Given the description of an element on the screen output the (x, y) to click on. 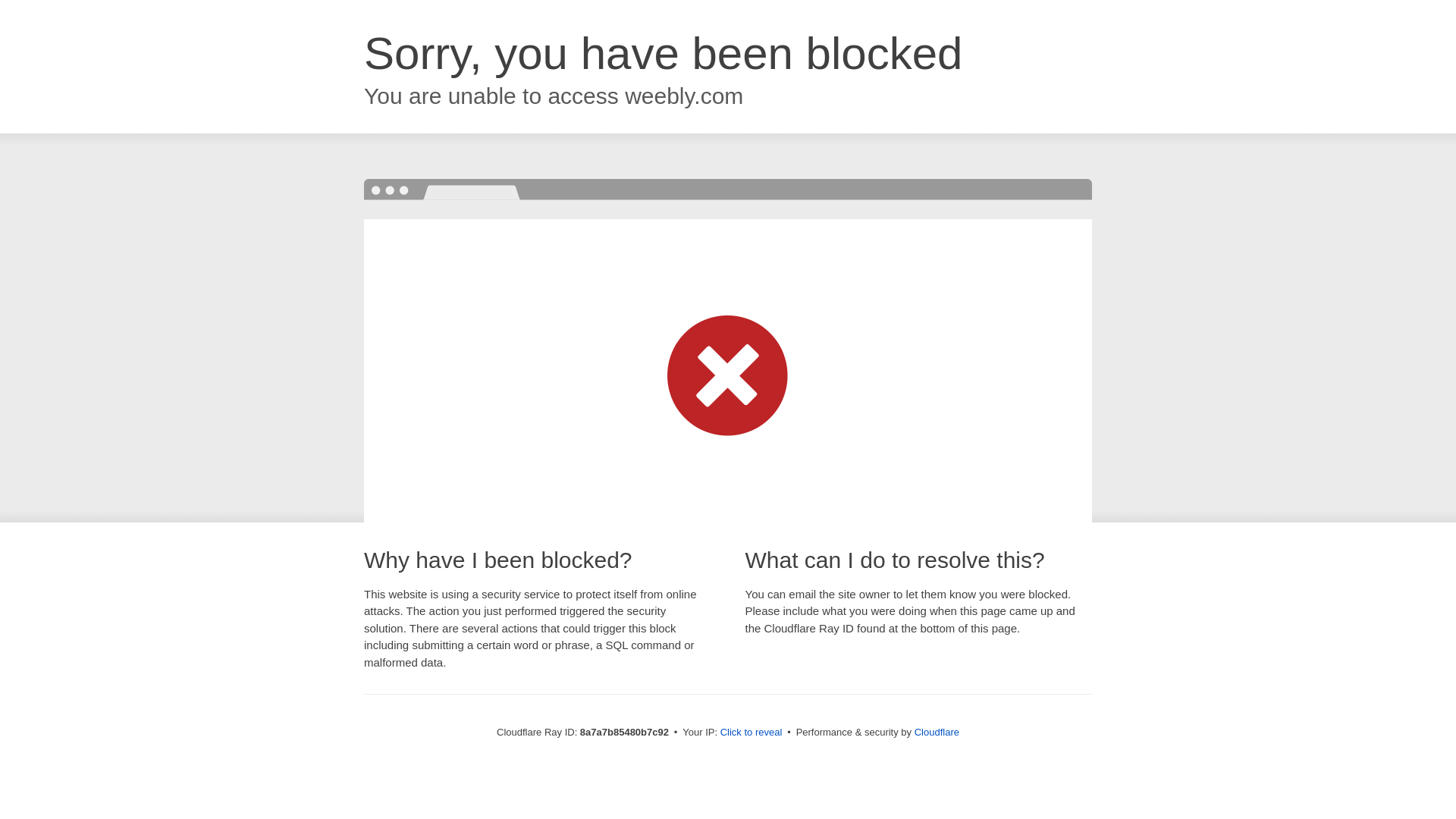
Cloudflare (936, 731)
Click to reveal (751, 732)
